Given the description of an element on the screen output the (x, y) to click on. 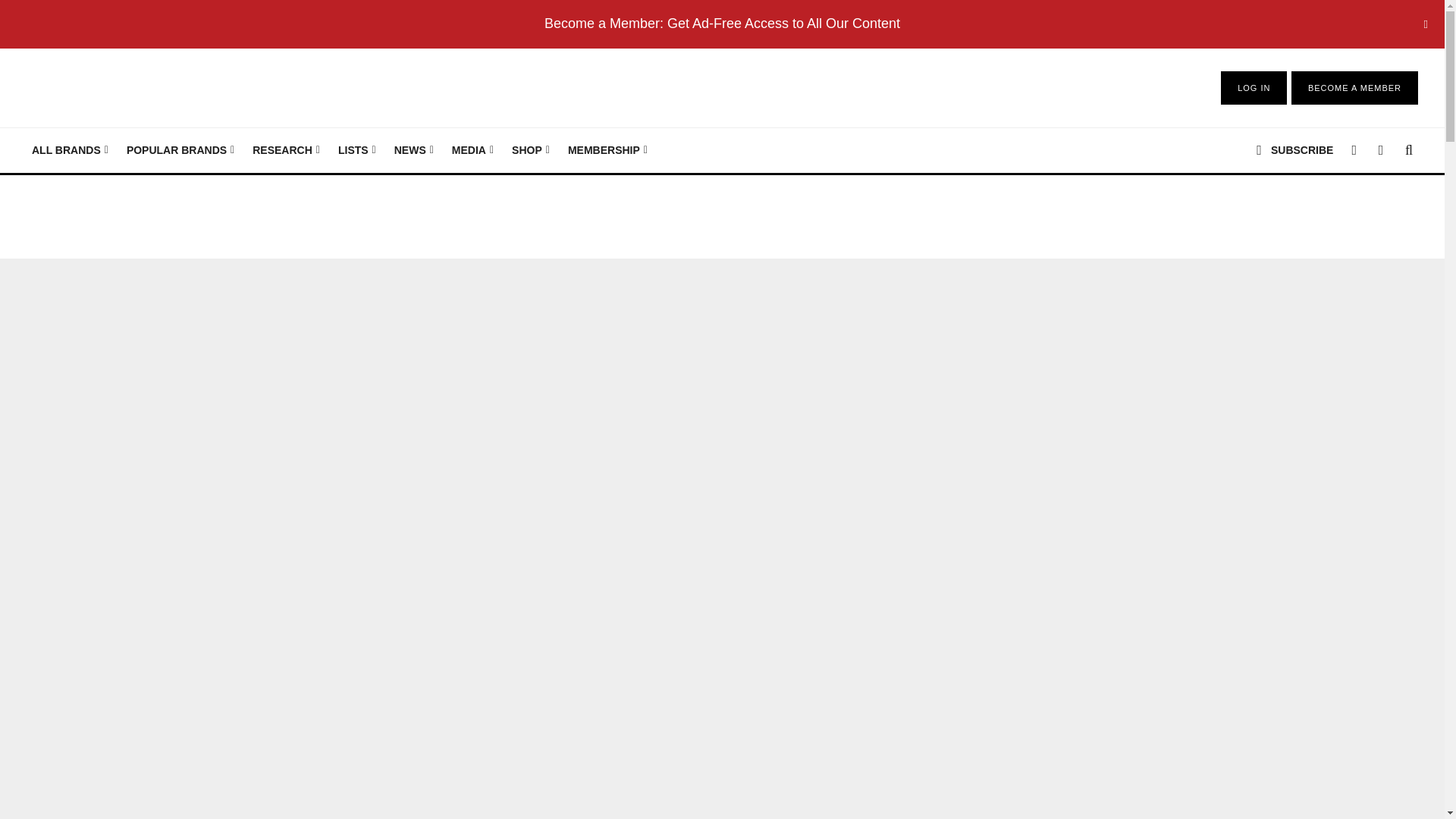
ALL BRANDS (70, 149)
Become a Member: Get Ad-Free Access to All Our Content (721, 23)
Become a Member: Get Ad-Free Access to All Our Content (721, 23)
BECOME A MEMBER (1353, 87)
LOG IN (1253, 87)
